Given the description of an element on the screen output the (x, y) to click on. 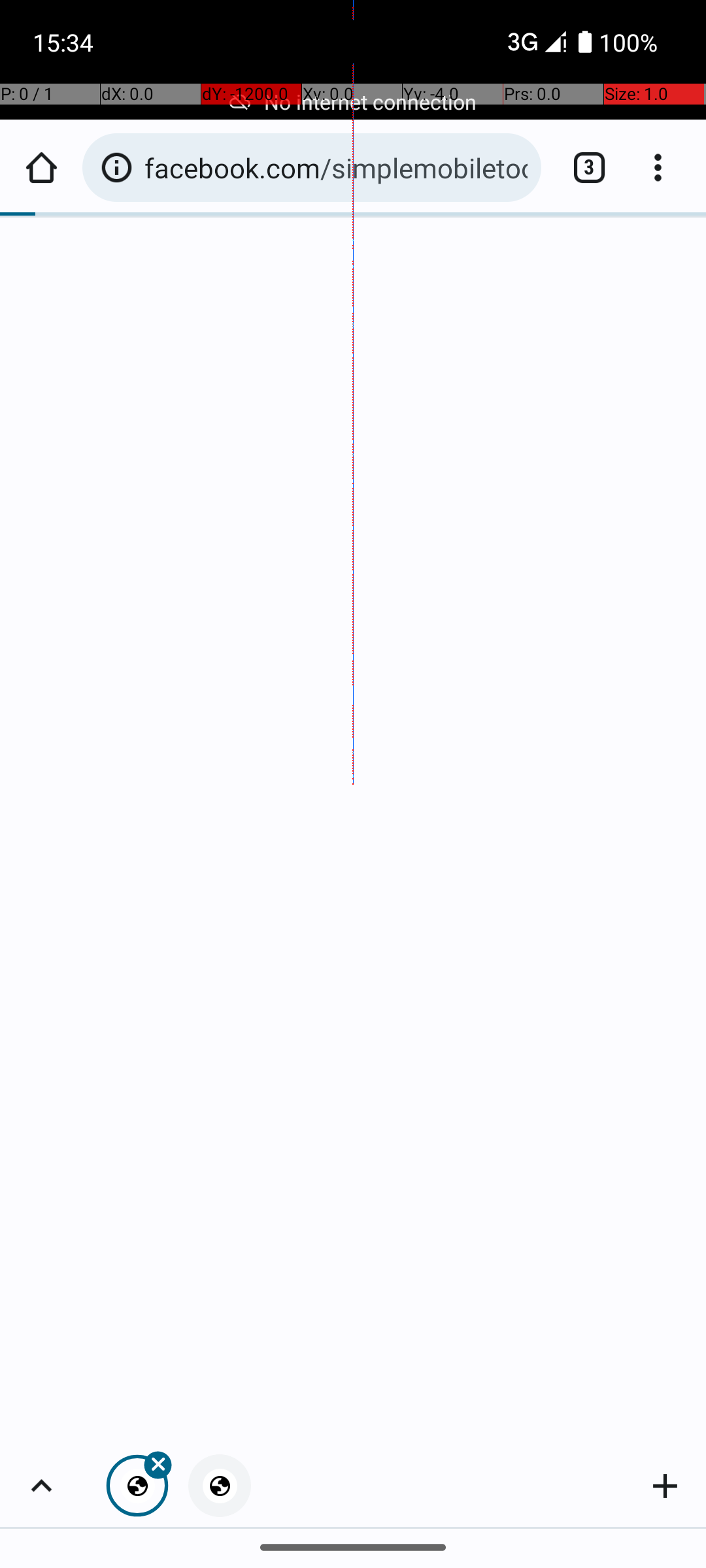
facebook.com/simplemobiletools Element type: android.widget.EditText (335, 167)
